Given the description of an element on the screen output the (x, y) to click on. 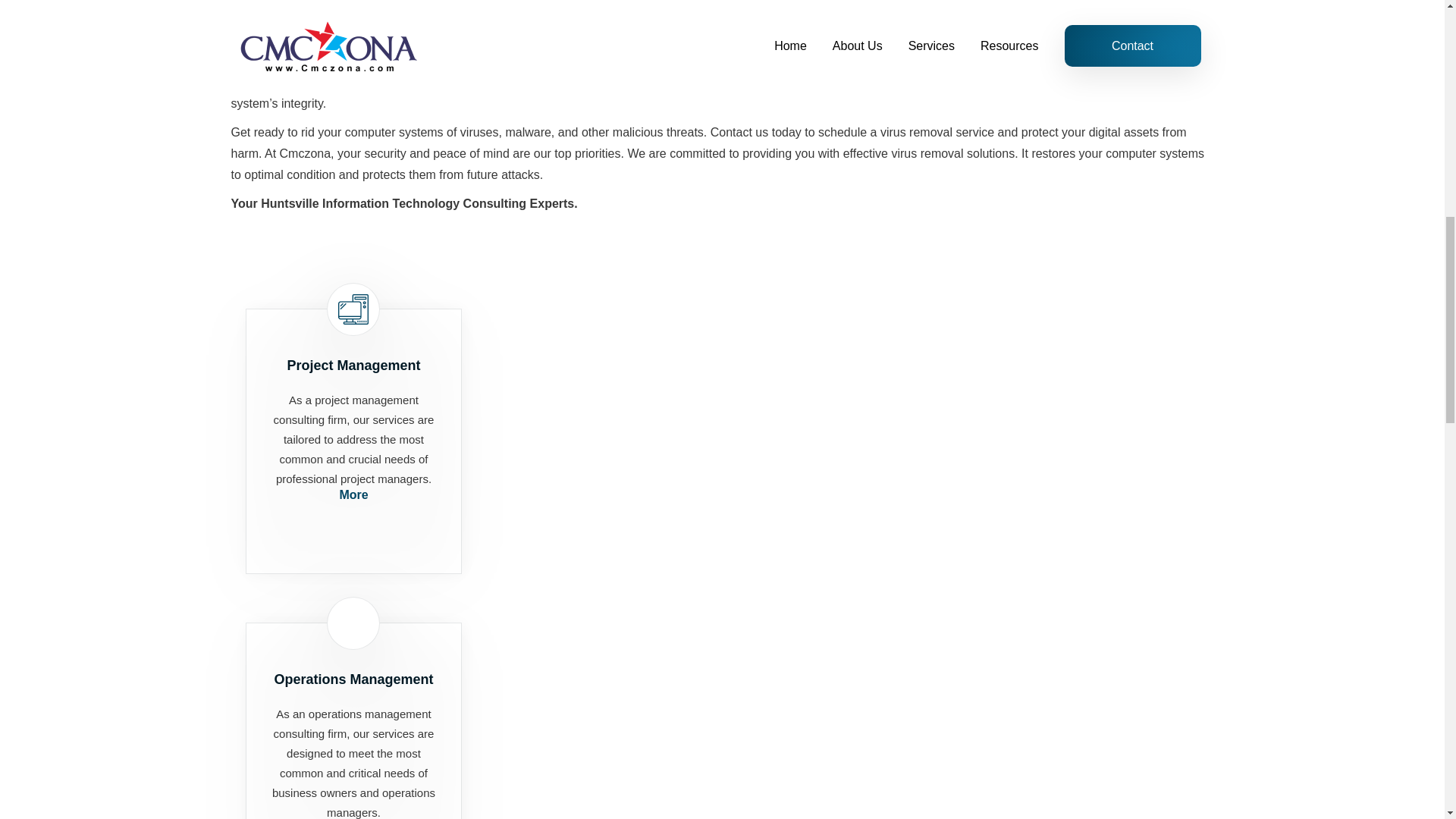
More (353, 494)
